Given the description of an element on the screen output the (x, y) to click on. 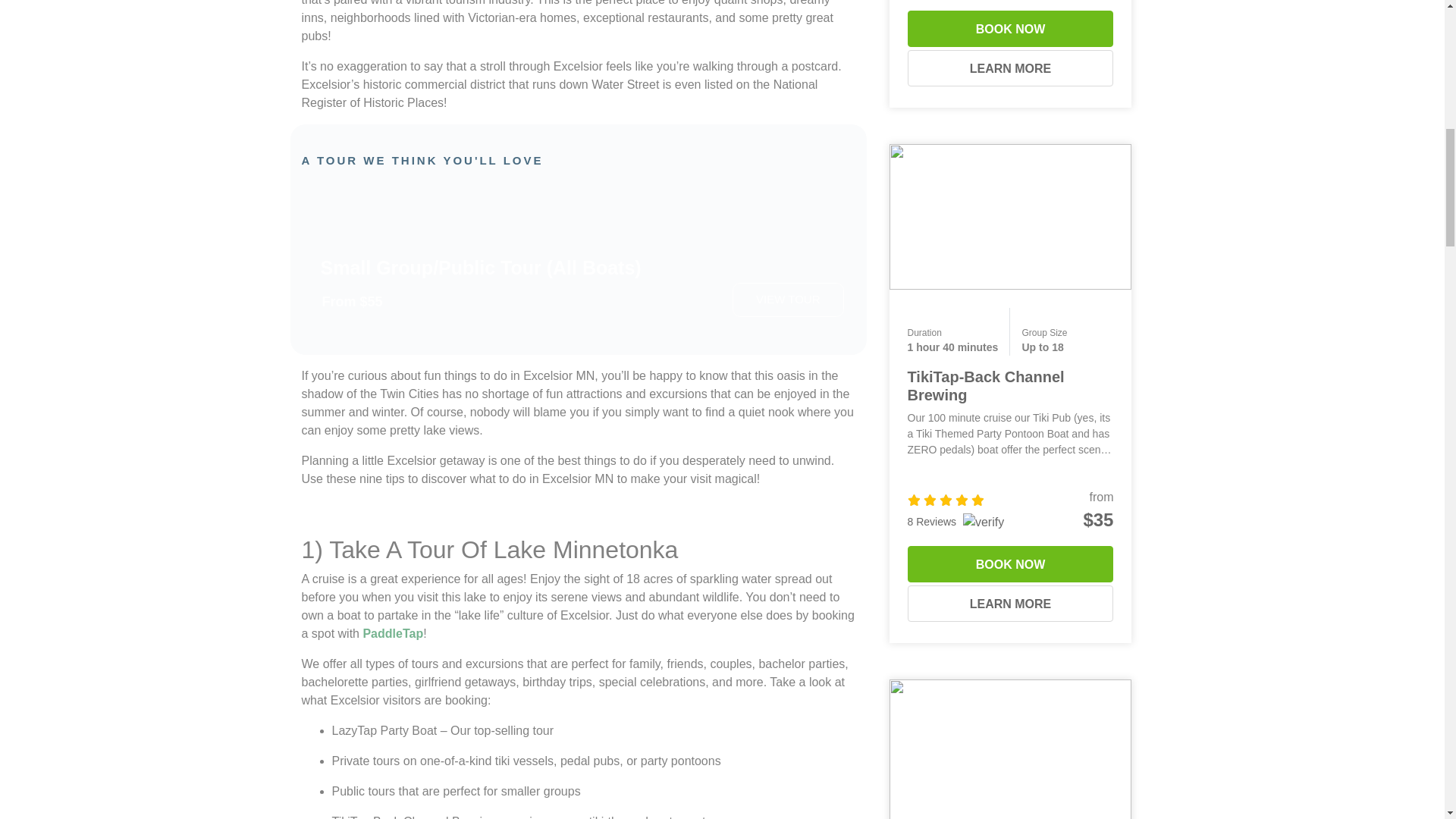
LEARN MORE (1010, 67)
BOOK NOW (1010, 28)
Learn More (1010, 67)
TikiTap-Back Channel Brewing (985, 385)
PaddleTap (392, 633)
VIEW TOUR (787, 299)
TikiTap-Back Channel Brewing (1009, 215)
Book Now (1010, 28)
